Given the description of an element on the screen output the (x, y) to click on. 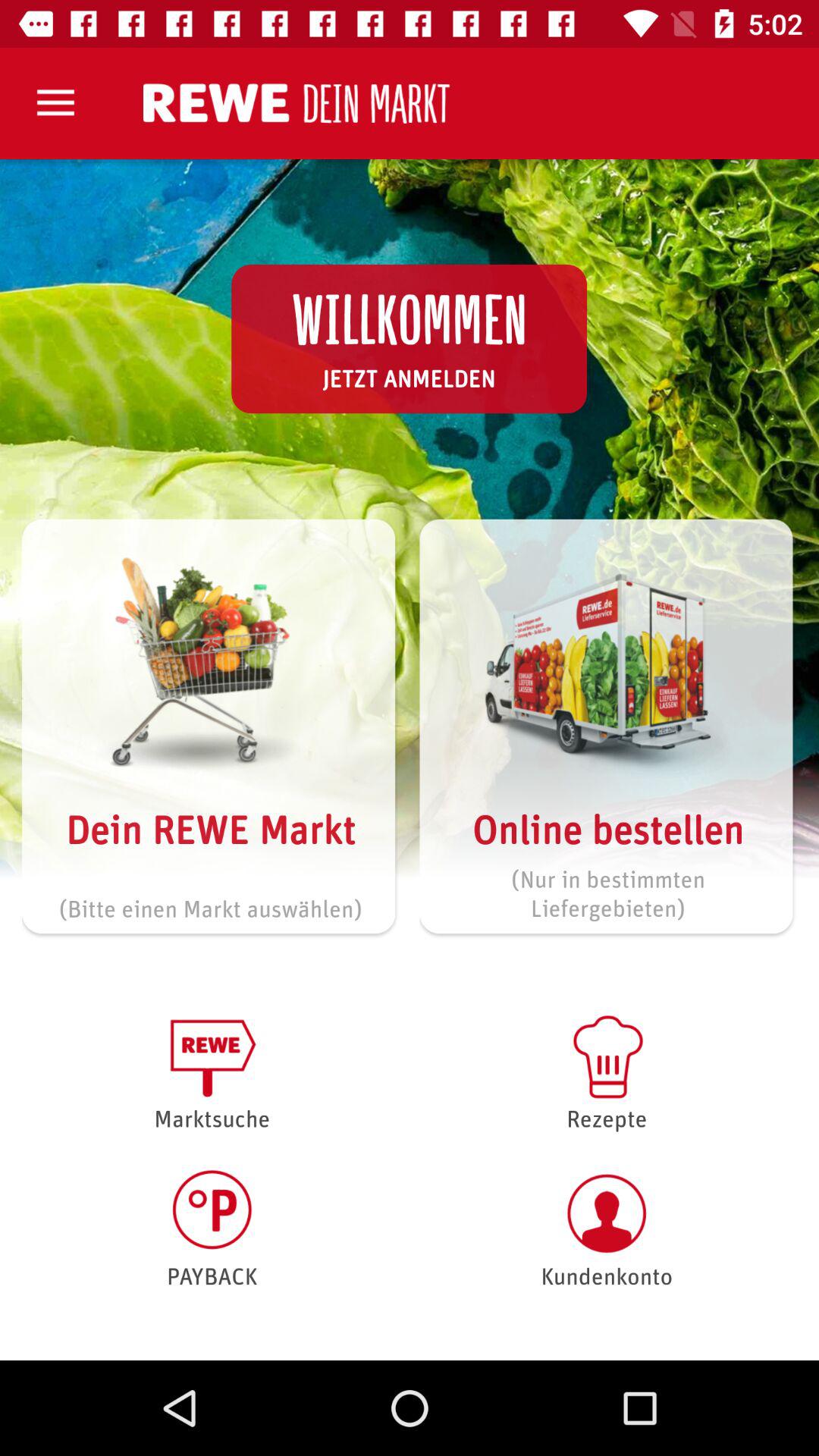
select the icon next to the rezepte (211, 1228)
